Given the description of an element on the screen output the (x, y) to click on. 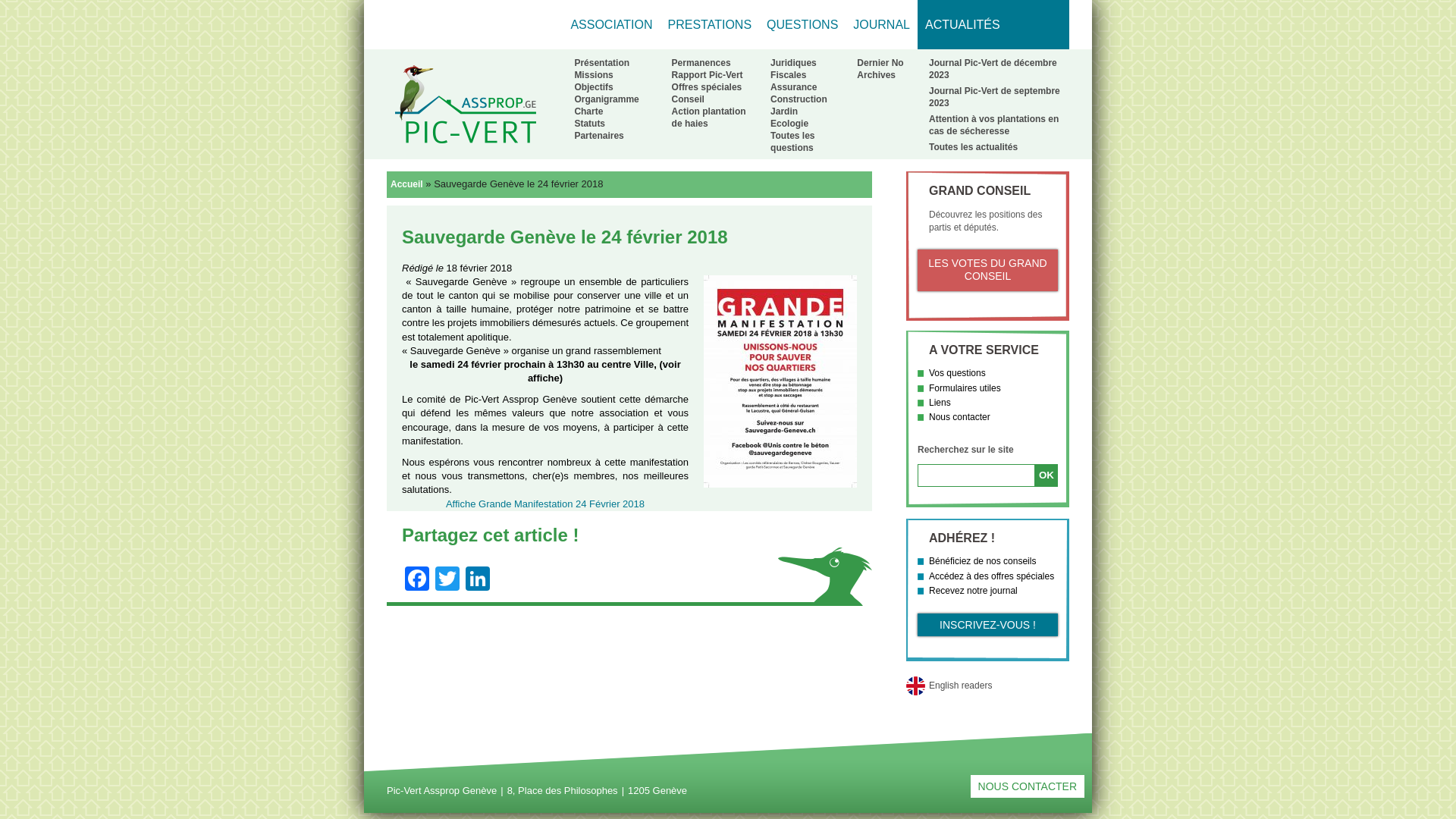
Archives Element type: text (875, 74)
Action plantation de haies Element type: text (708, 117)
Statuts Element type: text (589, 123)
Accueil Element type: text (404, 183)
Jardin Element type: text (783, 111)
Permanences Element type: text (701, 62)
Facebook Element type: text (416, 580)
Partenaires Element type: text (598, 135)
Rapport Pic-Vert Element type: text (707, 74)
Missions Element type: text (593, 74)
Vos questions Element type: text (956, 372)
Liens Element type: text (939, 402)
Dernier No Element type: text (879, 62)
INSCRIVEZ-VOUS ! Element type: text (987, 624)
Construction Element type: text (798, 99)
LinkedIn Element type: text (477, 580)
Ok Element type: text (1046, 475)
Juridiques Element type: text (793, 62)
Ecologie Element type: text (789, 123)
Charte Element type: text (588, 111)
Organigramme Element type: text (606, 99)
English readers Element type: text (987, 685)
Toutes les questions Element type: text (792, 141)
Formulaires utiles Element type: text (964, 387)
Objectifs Element type: text (593, 86)
Conseil Element type: text (687, 99)
Twitter Element type: text (447, 580)
Nous contacter Element type: text (959, 416)
NOUS CONTACTER Element type: text (1027, 786)
Journal Pic-Vert de septembre 2023 Element type: text (994, 96)
Assurance Element type: text (793, 86)
LES VOTES DU GRAND CONSEIL Element type: text (987, 270)
Fiscales Element type: text (788, 74)
